Given the description of an element on the screen output the (x, y) to click on. 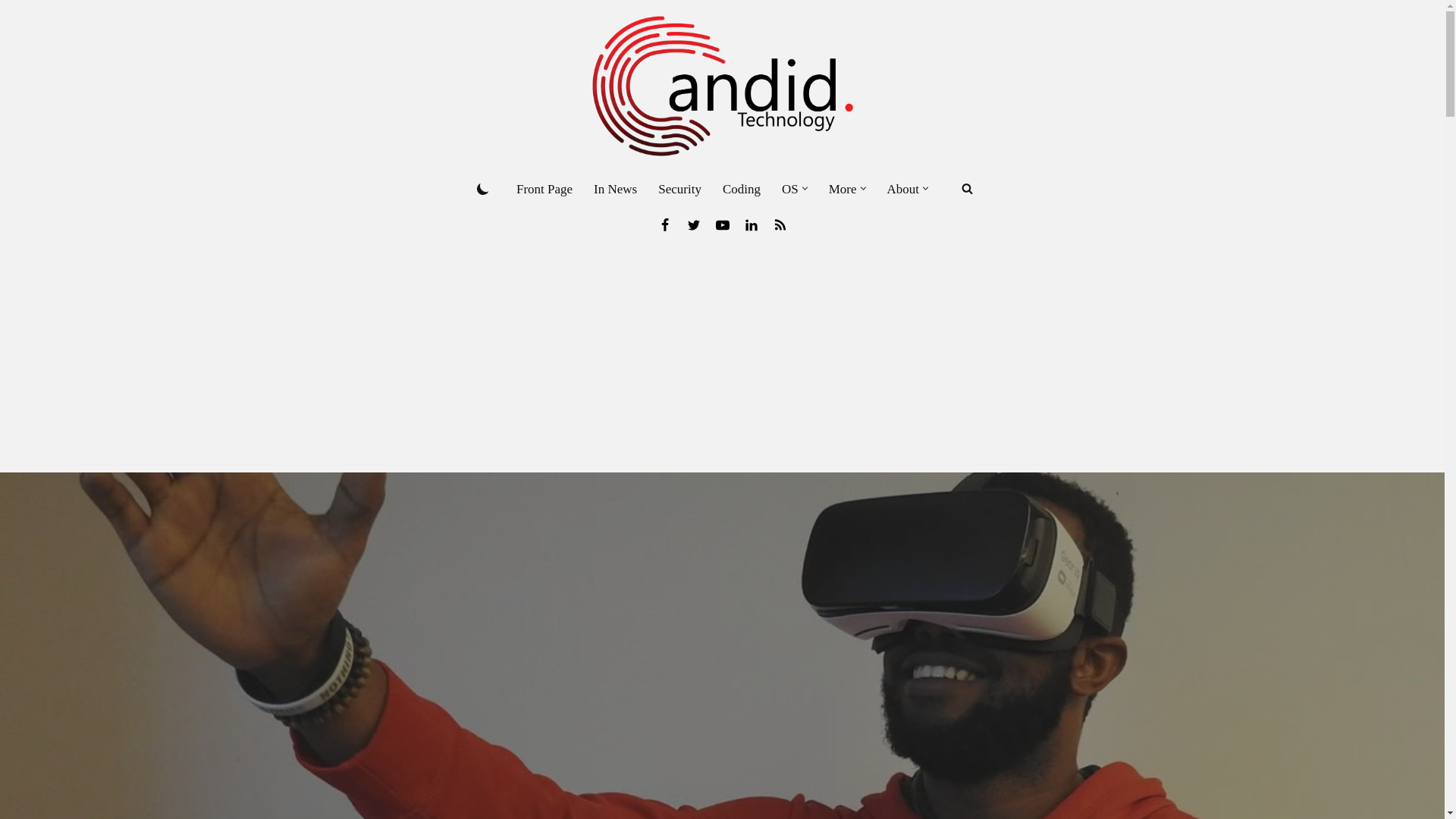
More (842, 188)
Facebook (664, 224)
Coding (741, 188)
Twitter (692, 224)
Linkedin (750, 224)
Youtube (721, 224)
News (779, 224)
Skip to content (11, 31)
In News (615, 188)
